Given the description of an element on the screen output the (x, y) to click on. 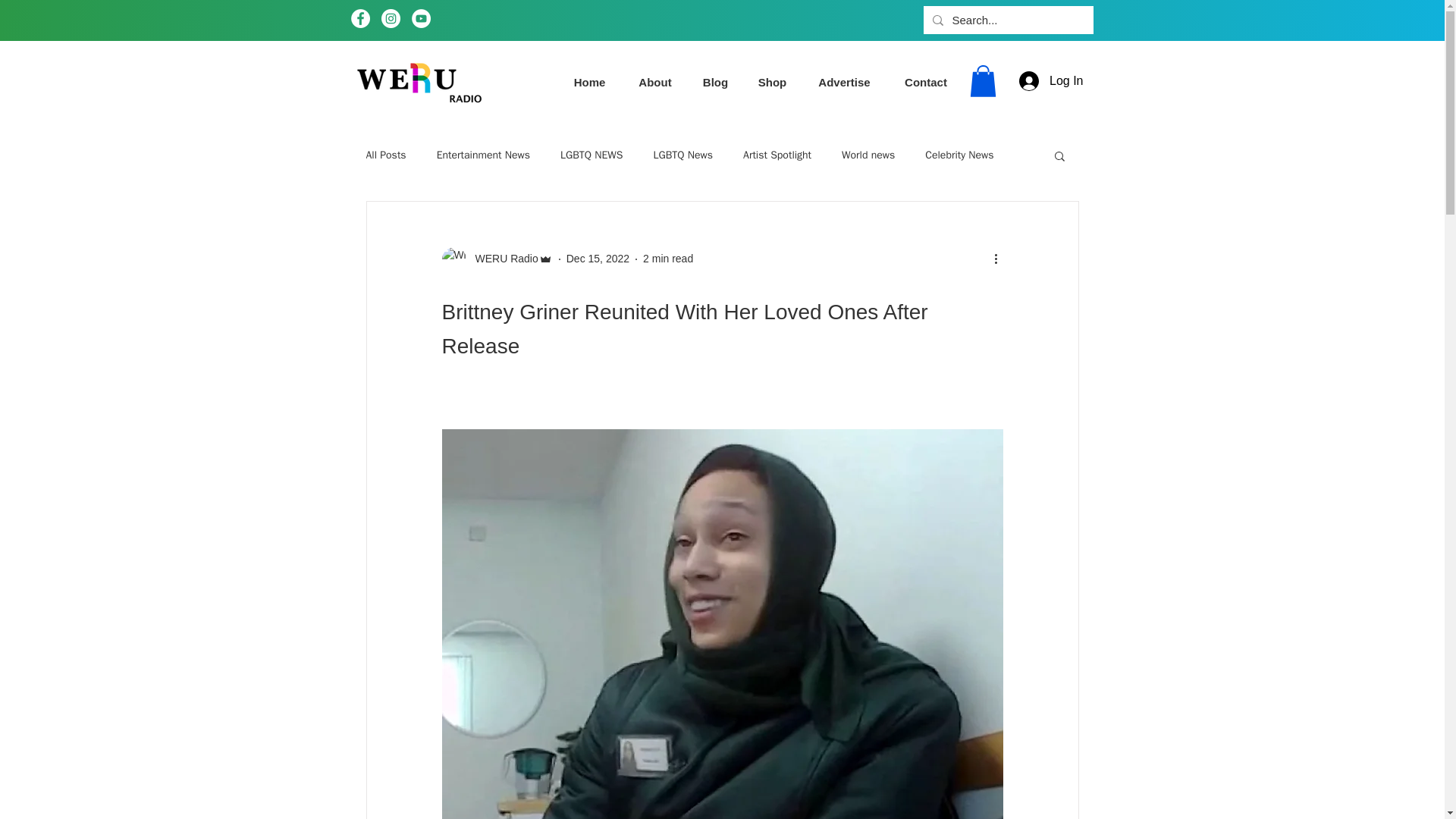
2 min read (668, 258)
About (654, 82)
World news (868, 155)
All Posts (385, 155)
Log In (1051, 81)
Entertainment News (482, 155)
Artist Spotlight (776, 155)
Celebrity News (958, 155)
Home (588, 82)
WERU Radio (501, 258)
